Given the description of an element on the screen output the (x, y) to click on. 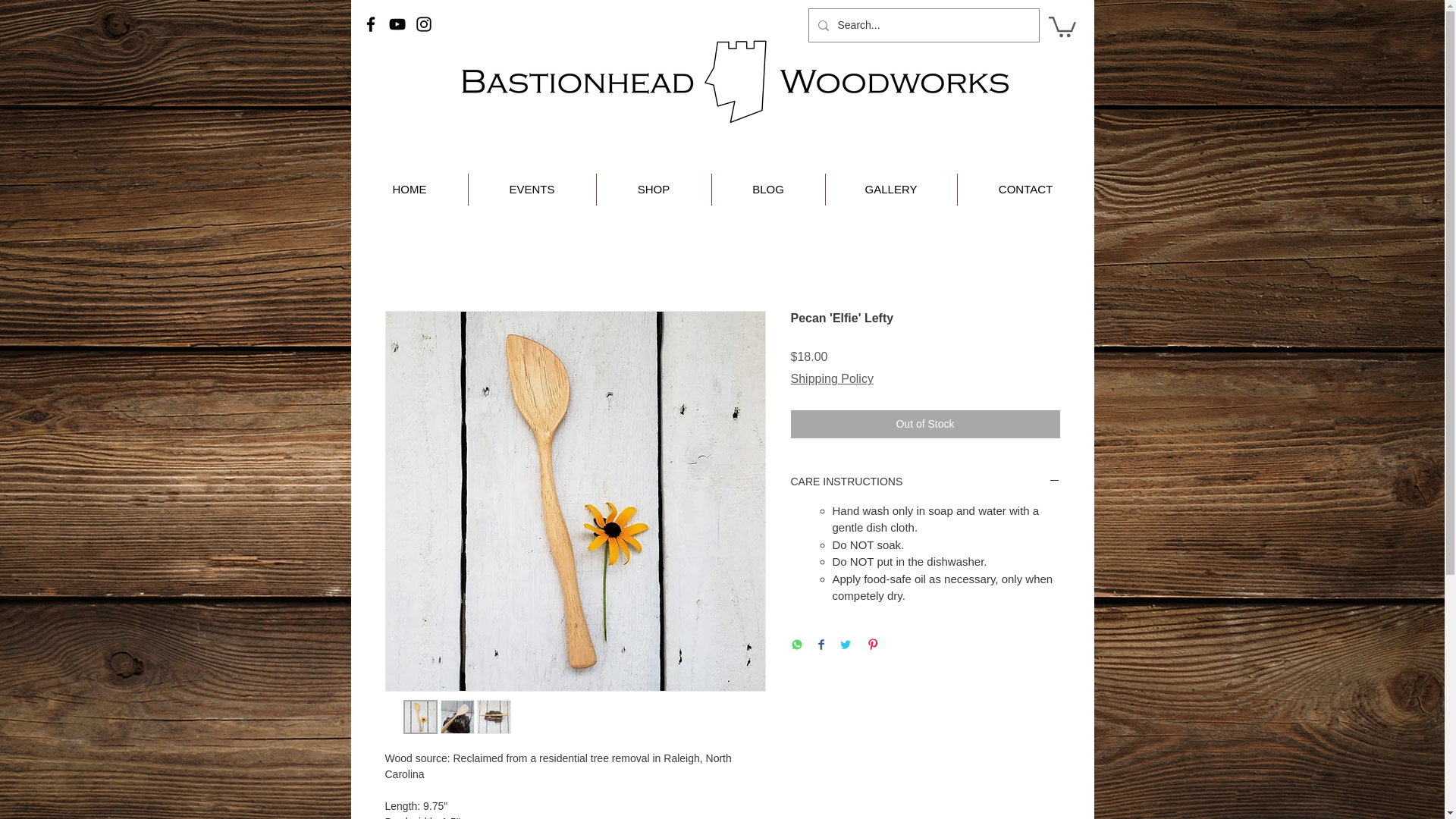
BLOG (768, 189)
EVENTS (531, 189)
Shipping Policy (831, 378)
CARE INSTRUCTIONS (924, 481)
HOME (409, 189)
SHOP (653, 189)
CONTACT (1025, 189)
Out of Stock (924, 424)
GALLERY (890, 189)
